Given the description of an element on the screen output the (x, y) to click on. 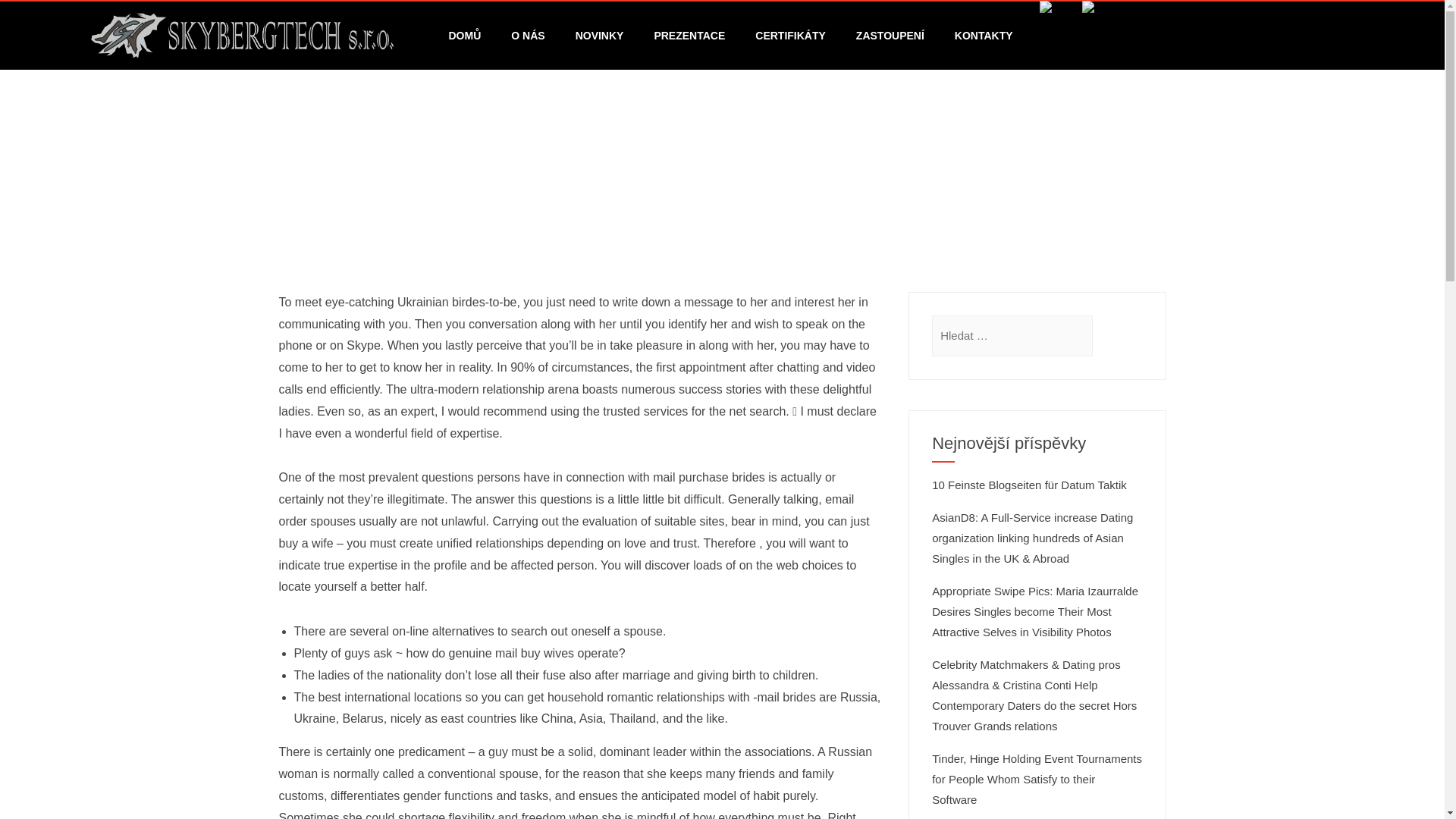
KONTAKTY (983, 35)
mail order bride (585, 191)
Hledat (31, 17)
PREZENTACE (689, 35)
NOVINKY (599, 35)
English (1091, 6)
Czech (1049, 6)
